Given the description of an element on the screen output the (x, y) to click on. 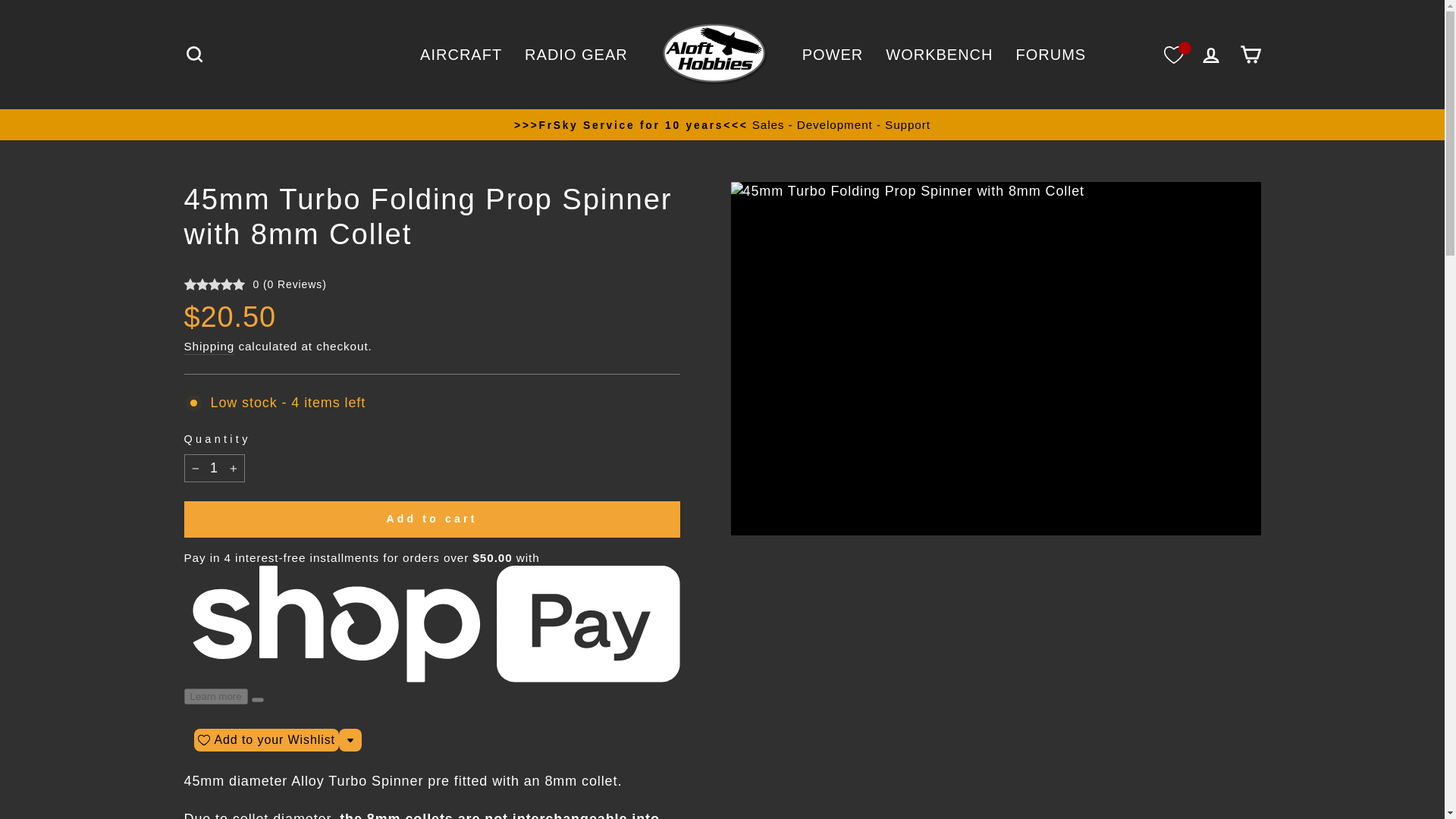
1 (213, 468)
